Given the description of an element on the screen output the (x, y) to click on. 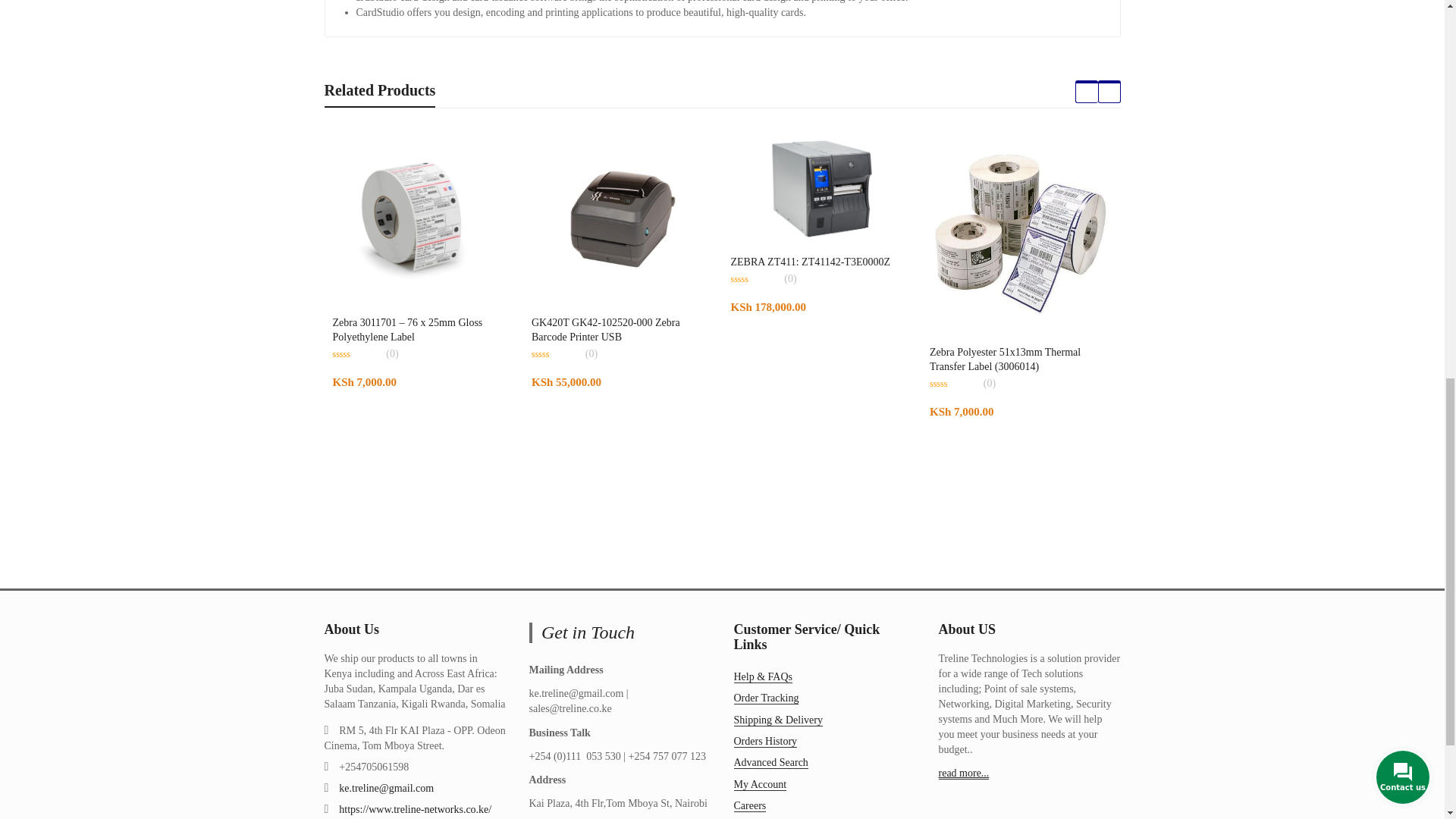
0 (755, 278)
0 (356, 353)
0 (954, 383)
0 (555, 353)
